Given the description of an element on the screen output the (x, y) to click on. 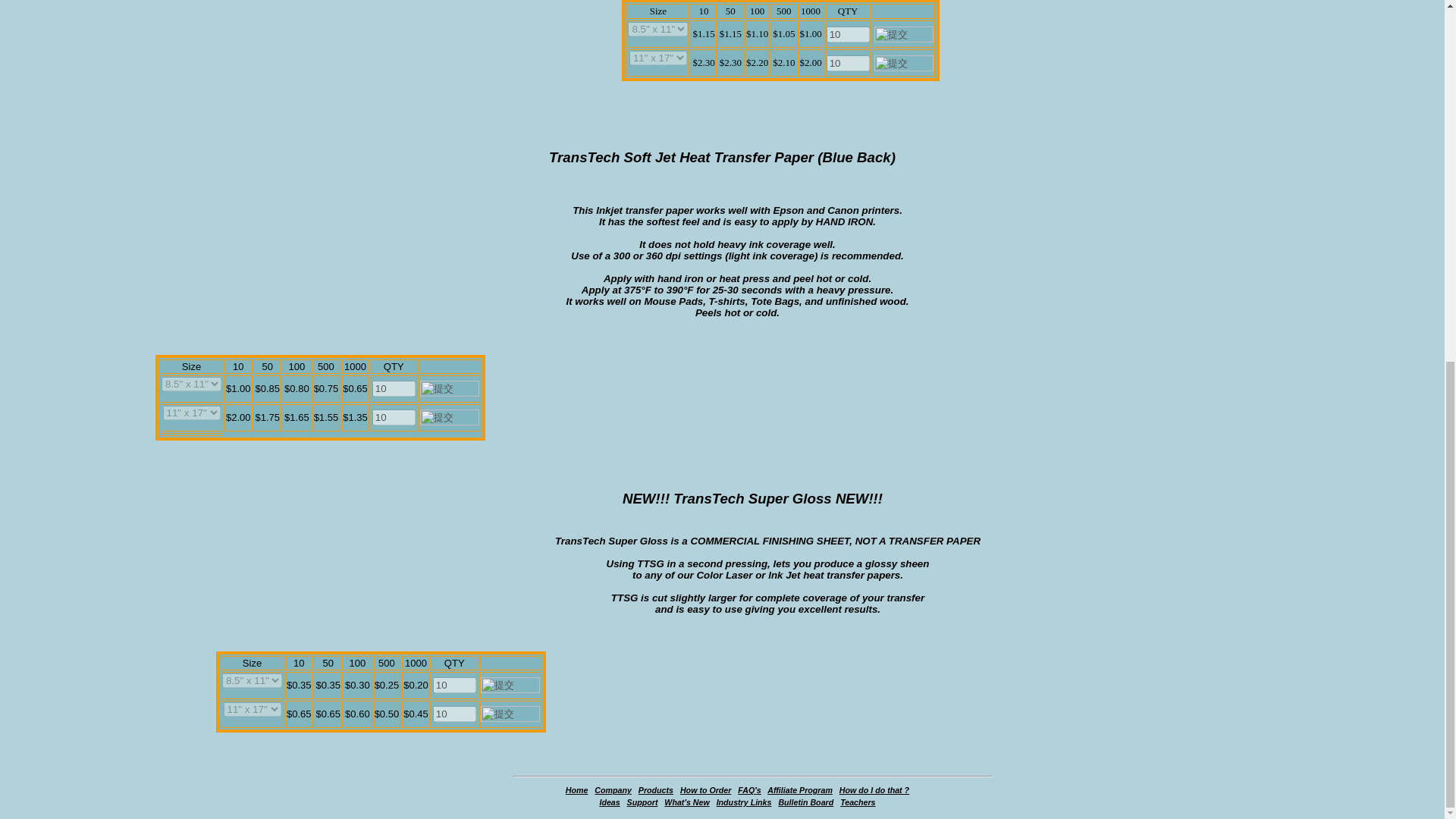
Home (577, 789)
10 (848, 63)
Company (612, 789)
Products (655, 789)
10 (848, 34)
Ideas (609, 801)
10 (454, 684)
Teachers (857, 801)
Bulletin Board (804, 801)
FAQ's (749, 789)
